Given the description of an element on the screen output the (x, y) to click on. 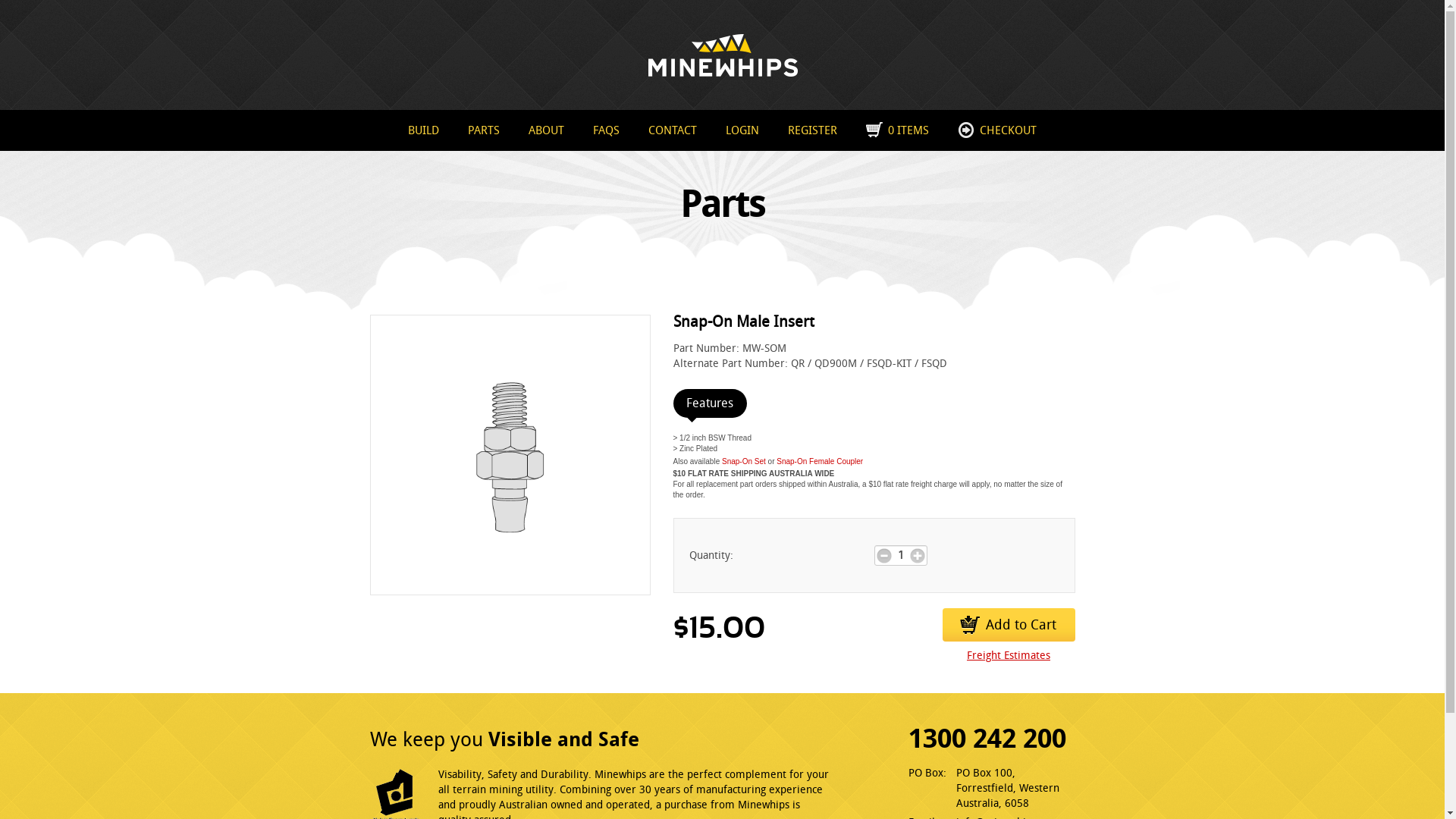
Snap-On Female Coupler Element type: text (819, 461)
CONTACT Element type: text (672, 129)
Snap-On Set Element type: text (743, 461)
FAQS Element type: text (605, 129)
0 ITEMS Element type: text (897, 129)
Minewhips Element type: hover (721, 54)
REGISTER Element type: text (812, 129)
LOGIN Element type: text (742, 129)
Add to Cart Element type: text (1007, 624)
PARTS Element type: text (483, 129)
Freight Estimates Element type: text (1008, 656)
CHECKOUT Element type: text (997, 129)
ABOUT Element type: text (546, 129)
BUILD Element type: text (423, 129)
